Given the description of an element on the screen output the (x, y) to click on. 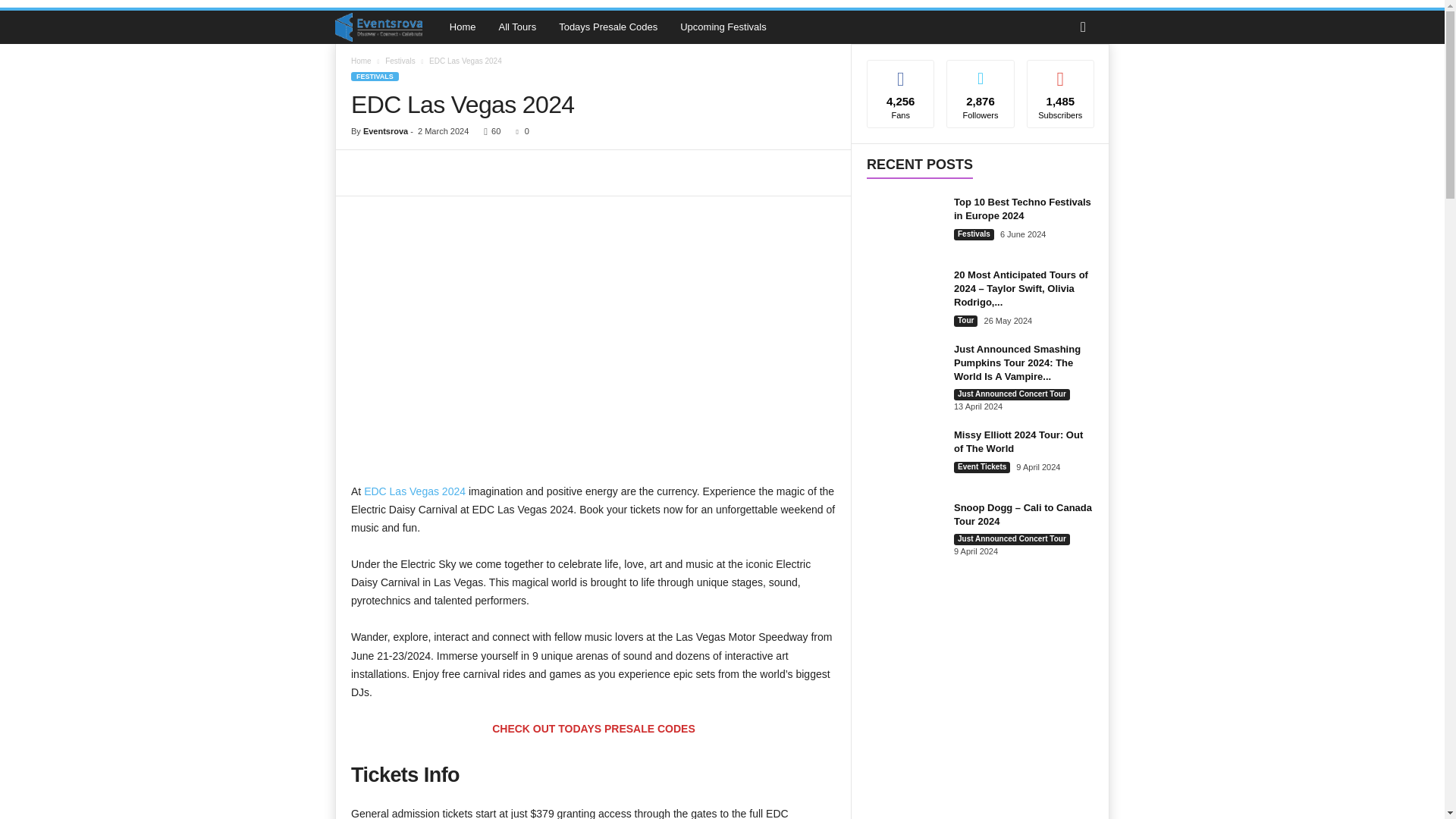
0 (518, 130)
Home (462, 27)
Festivals (399, 60)
Eventsrova (384, 130)
Home (360, 60)
eventsrova (386, 27)
Todays Presale Codes (607, 27)
Eventsrova (378, 27)
All Tours (517, 27)
Upcoming Festivals (722, 27)
FESTIVALS (374, 76)
